Given the description of an element on the screen output the (x, y) to click on. 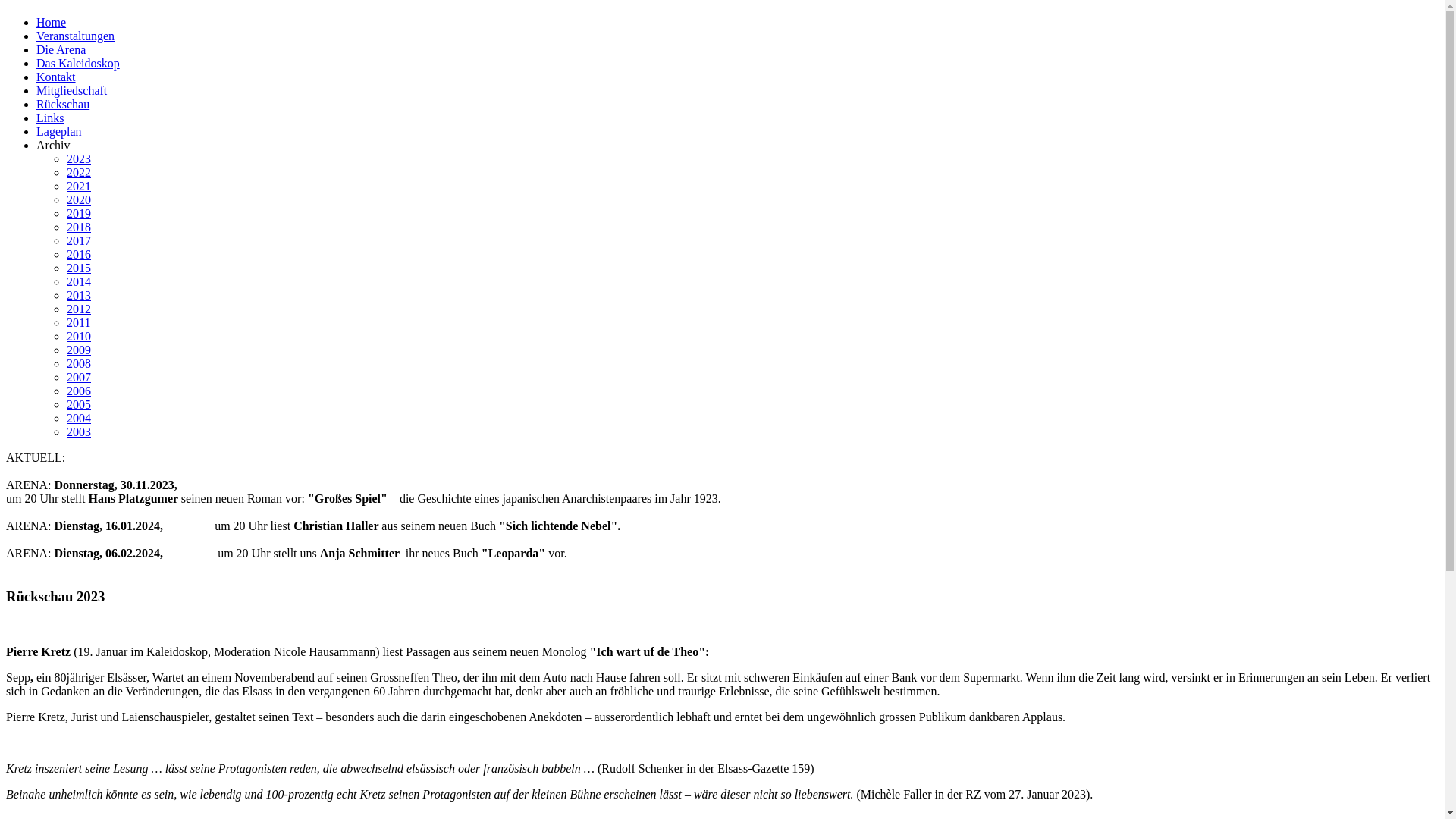
2023 Element type: text (78, 158)
2004 Element type: text (78, 417)
Die Arena Element type: text (60, 49)
Das Kaleidoskop Element type: text (77, 62)
2014 Element type: text (78, 281)
Home Element type: text (50, 21)
2006 Element type: text (78, 390)
Lageplan Element type: text (58, 131)
2020 Element type: text (78, 199)
Mitgliedschaft Element type: text (71, 90)
2015 Element type: text (78, 267)
2010 Element type: text (78, 335)
2016 Element type: text (78, 253)
2003 Element type: text (78, 431)
2007 Element type: text (78, 376)
2009 Element type: text (78, 349)
2011 Element type: text (78, 322)
2022 Element type: text (78, 172)
Kontakt Element type: text (55, 76)
2005 Element type: text (78, 404)
2018 Element type: text (78, 226)
2017 Element type: text (78, 240)
2019 Element type: text (78, 213)
2021 Element type: text (78, 185)
Veranstaltungen Element type: text (75, 35)
Links Element type: text (49, 117)
2013 Element type: text (78, 294)
2012 Element type: text (78, 308)
2008 Element type: text (78, 363)
